Given the description of an element on the screen output the (x, y) to click on. 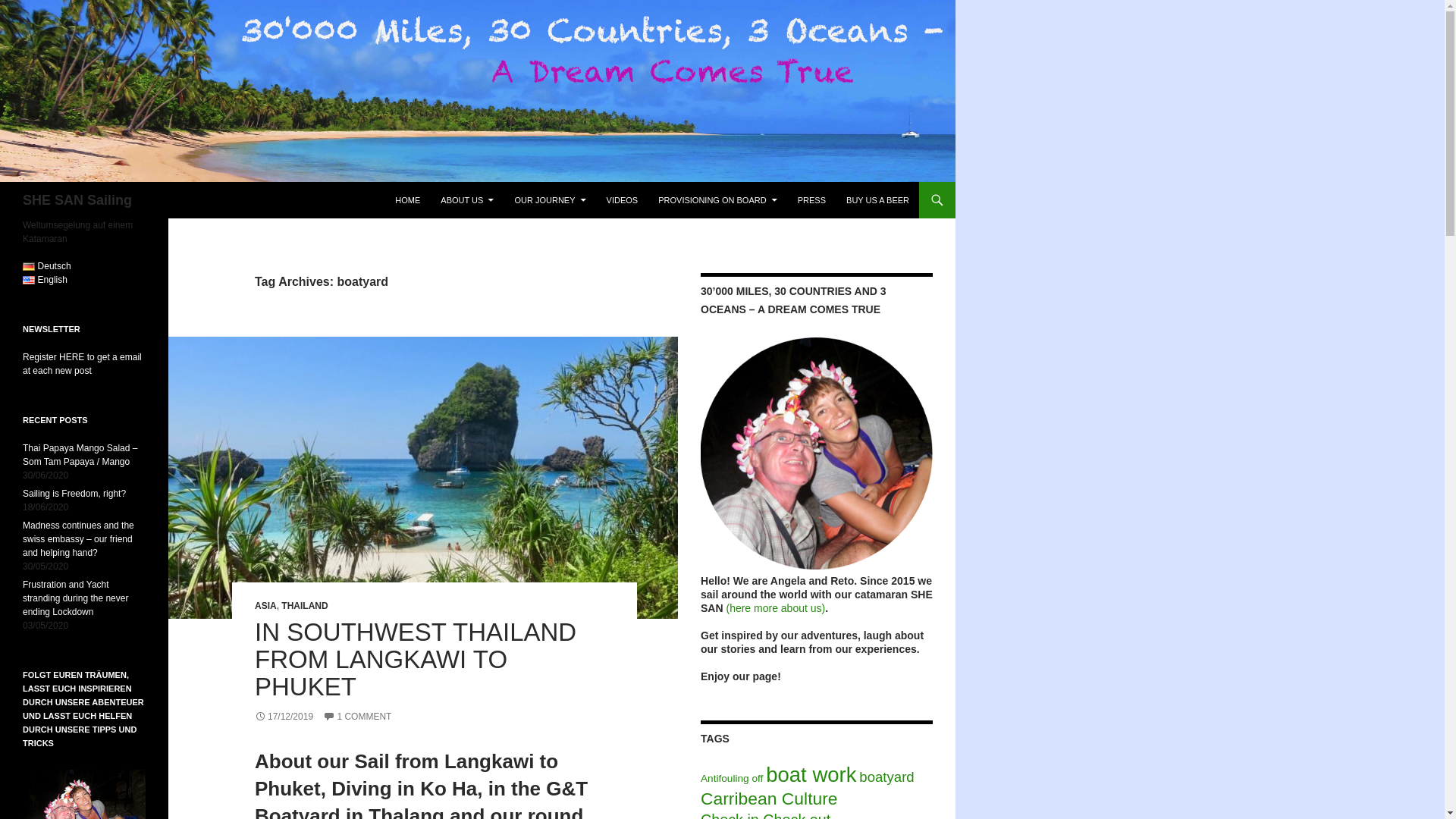
1 COMMENT (357, 716)
ABOUT US (466, 199)
BUY US A BEER (877, 199)
SHE SAN Sailing (77, 199)
THAILAND (304, 605)
OUR JOURNEY (549, 199)
PRESS (811, 199)
IN SOUTHWEST THAILAND FROM LANGKAWI TO PHUKET (415, 659)
VIDEOS (621, 199)
ASIA (265, 605)
PROVISIONING ON BOARD (717, 199)
HOME (407, 199)
